Given the description of an element on the screen output the (x, y) to click on. 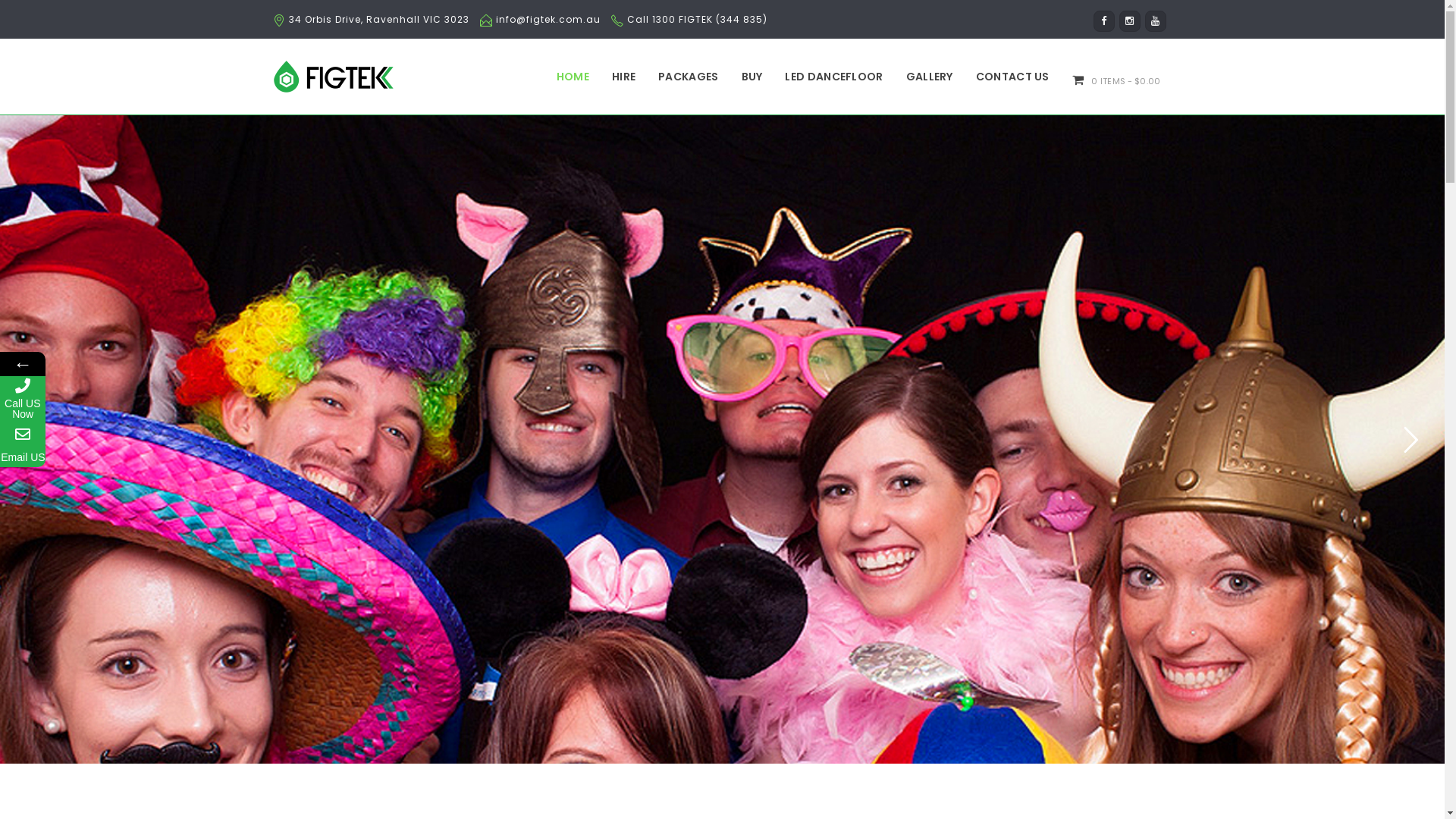
Email US Element type: text (22, 444)
CONTACT US Element type: text (1012, 76)
Phone Element type: text (123, 398)
HOME Element type: text (572, 76)
LED DANCEFLOOR Element type: text (833, 76)
BUY Element type: text (752, 76)
HIRE Element type: text (623, 76)
0 ITEMS$0.00 Element type: text (1116, 78)
Call US Now Element type: text (22, 398)
PACKAGES Element type: text (687, 76)
GALLERY Element type: text (929, 76)
Email Element type: text (123, 444)
